Given the description of an element on the screen output the (x, y) to click on. 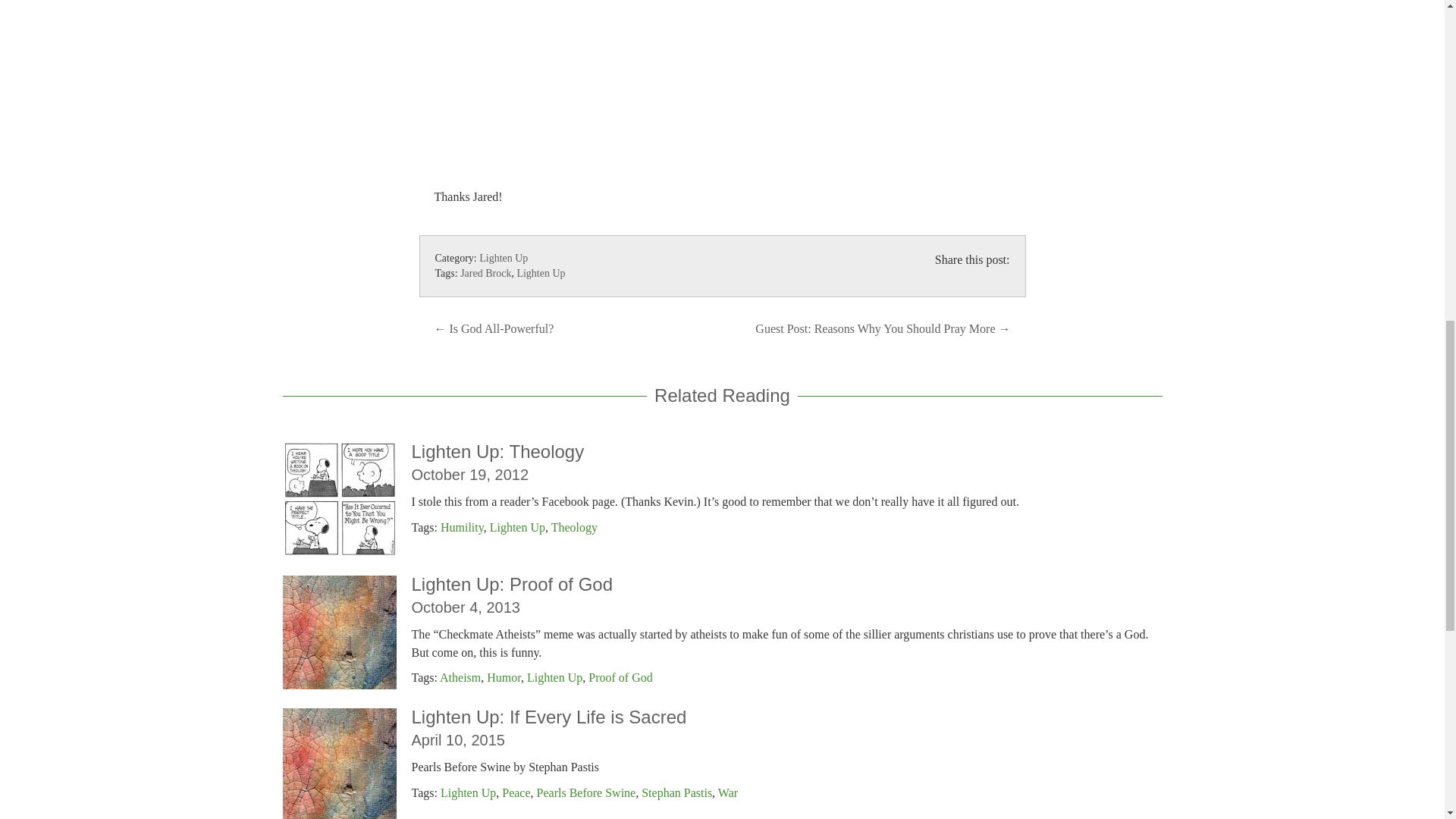
Lighten Up (554, 676)
Humility (462, 526)
Pearls Before Swine (586, 792)
Humor (503, 676)
Lighten Up: Theology (496, 451)
Peace (515, 792)
Theology (573, 526)
Lighten Up: Proof of God (511, 584)
Lighten Up (503, 257)
Lighten Up: If Every Life is Sacred (547, 716)
